Given the description of an element on the screen output the (x, y) to click on. 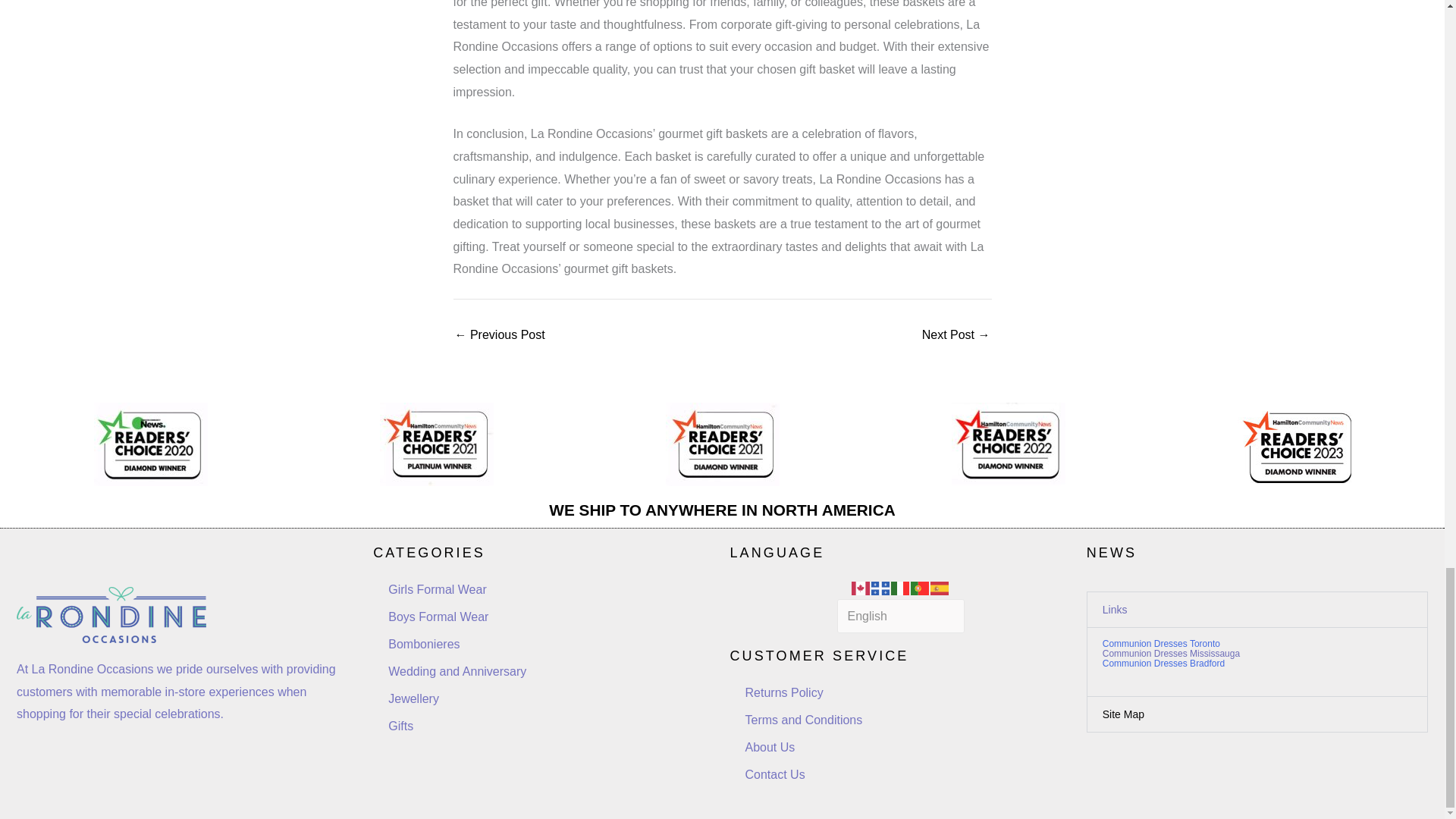
English (860, 586)
Italian (901, 586)
Spanish (940, 586)
Personalized Gift Baskets Hamilton (499, 335)
Portuguese (920, 586)
Food Gift Baskets (955, 335)
French (880, 586)
